Given the description of an element on the screen output the (x, y) to click on. 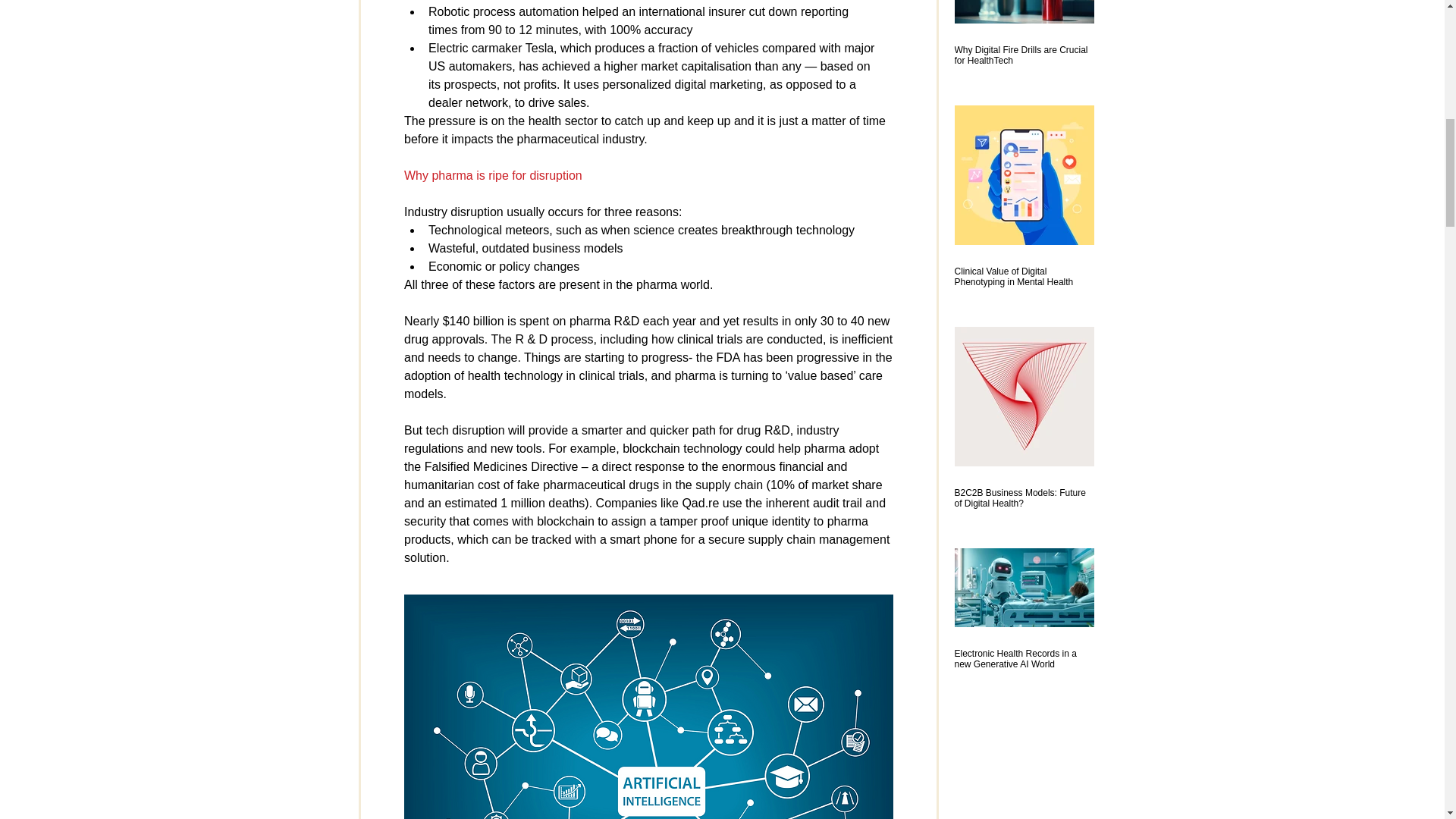
Electronic Health Records in a new Generative AI World (1023, 658)
Clinical Value of Digital Phenotyping in Mental Health (1023, 276)
Why Digital Fire Drills are Crucial for HealthTech (1023, 55)
B2C2B Business Models: Future of Digital Health? (1023, 497)
